Given the description of an element on the screen output the (x, y) to click on. 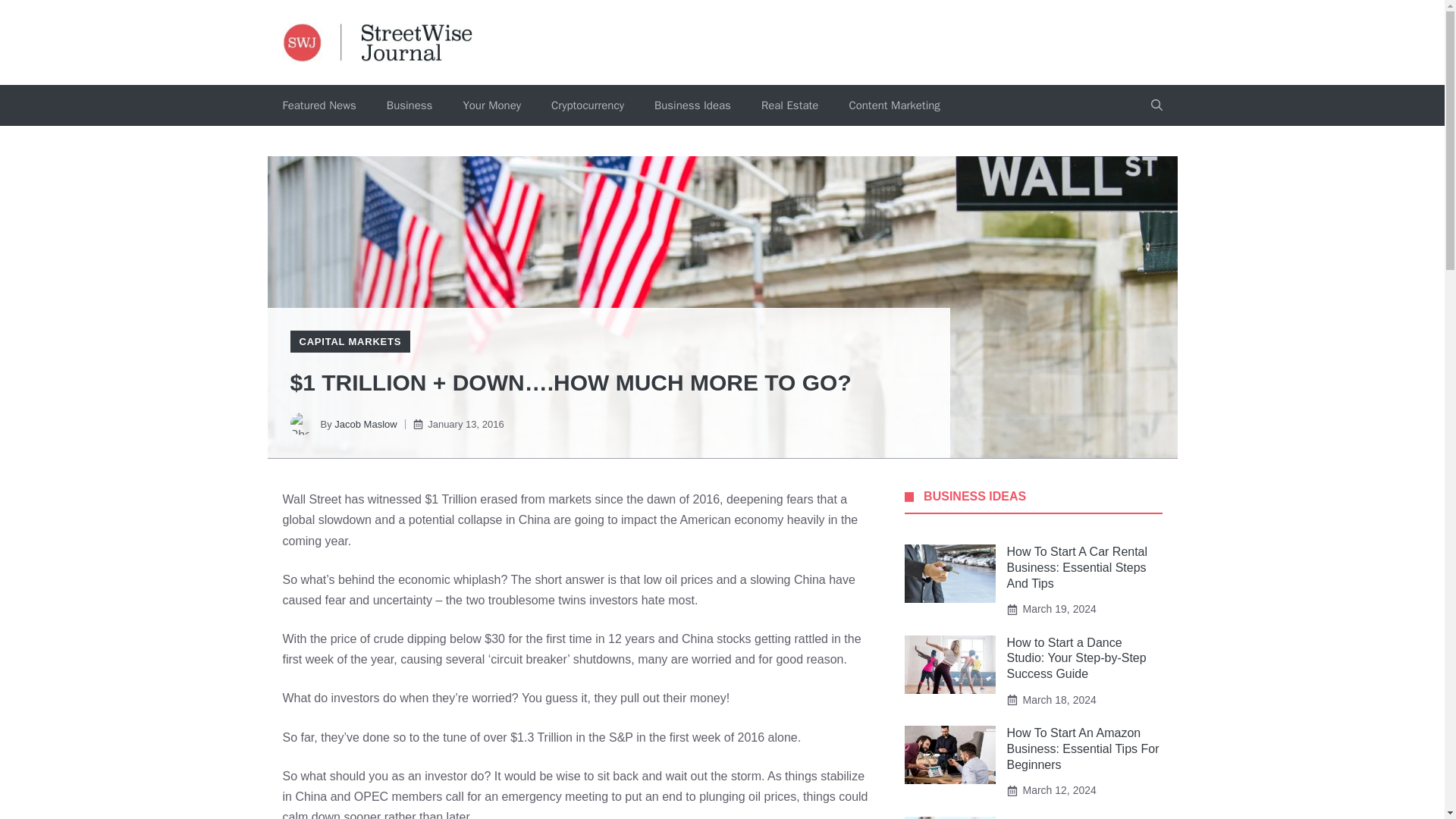
CAPITAL MARKETS (349, 341)
Featured News (318, 105)
Business Ideas (692, 105)
Real Estate (788, 105)
How To Start A Small Business As A Teenager: Practical Guide (1073, 818)
How to Start a Dance Studio: Your Step-by-Step Success Guide (1077, 657)
Business (409, 105)
Jacob Maslow (365, 423)
Content Marketing (893, 105)
